Given the description of an element on the screen output the (x, y) to click on. 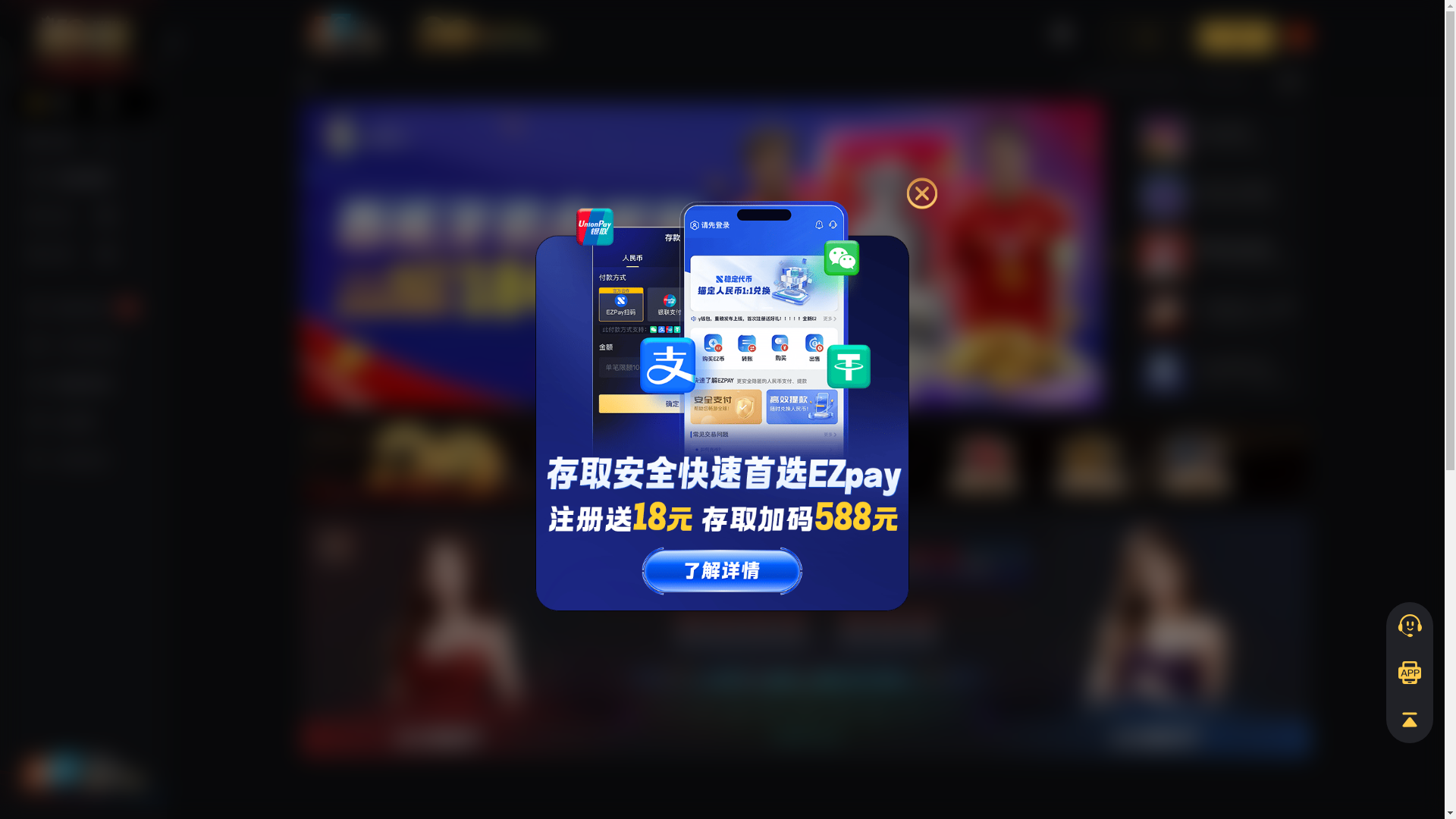
home (472, 22)
processors (894, 22)
